Given the description of an element on the screen output the (x, y) to click on. 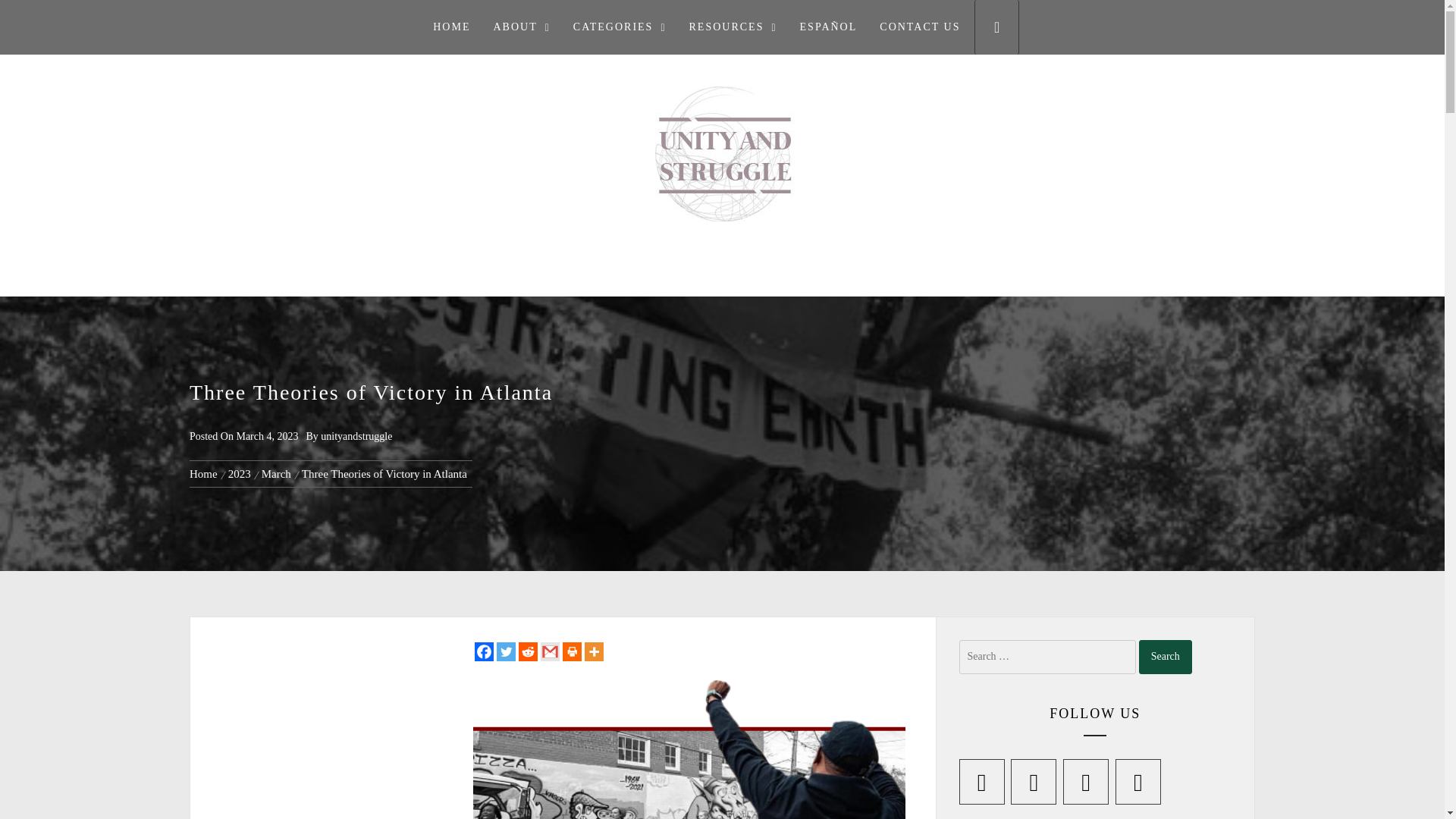
March (276, 473)
unityandstruggle (355, 436)
Google Gmail (549, 651)
CATEGORIES (620, 27)
March 4, 2023 (266, 436)
More (592, 651)
2023 (239, 473)
ABOUT (520, 27)
HOME (451, 27)
RESOURCES (733, 27)
